Given the description of an element on the screen output the (x, y) to click on. 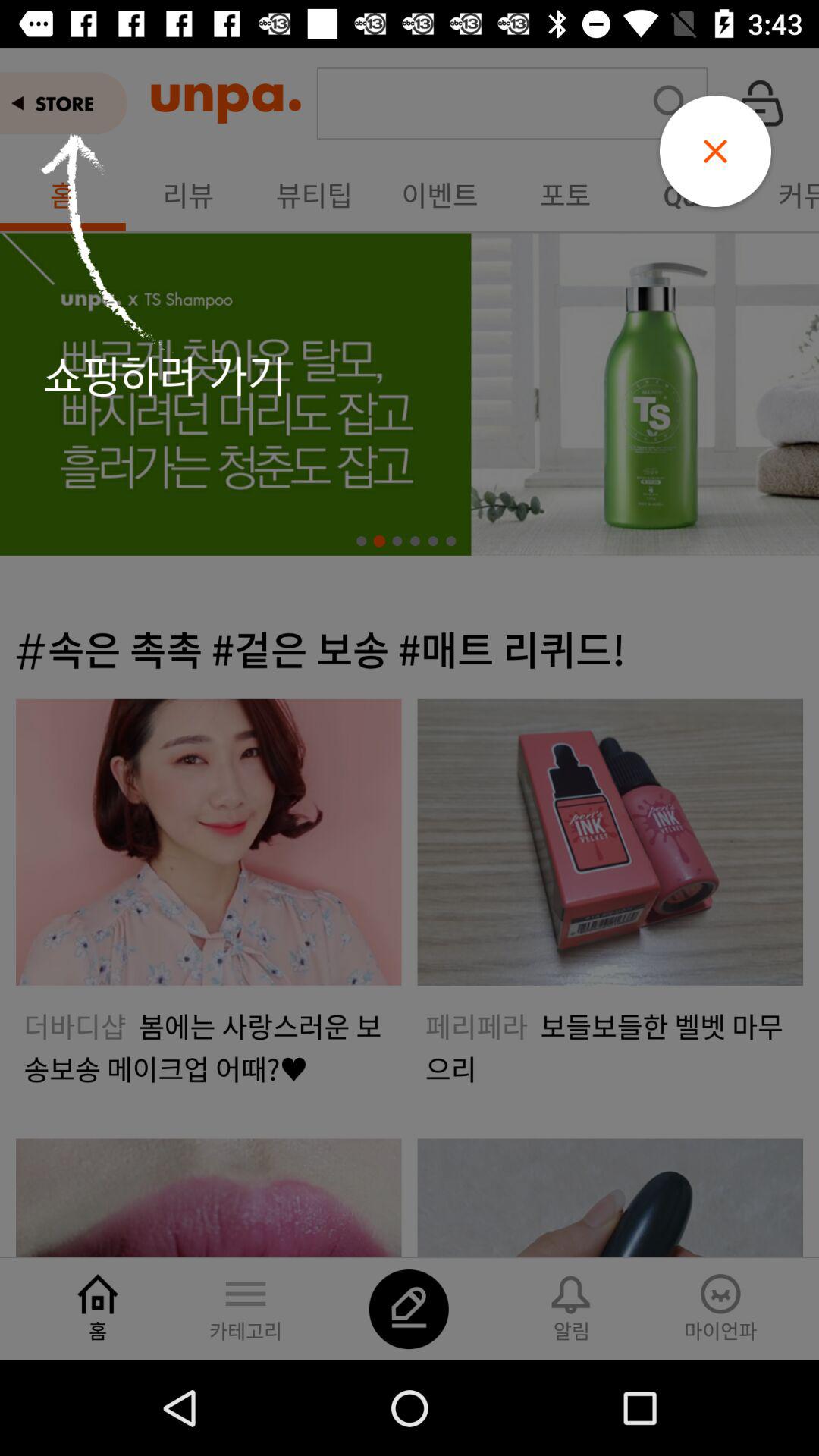
choose the item at the top right corner (715, 150)
